Given the description of an element on the screen output the (x, y) to click on. 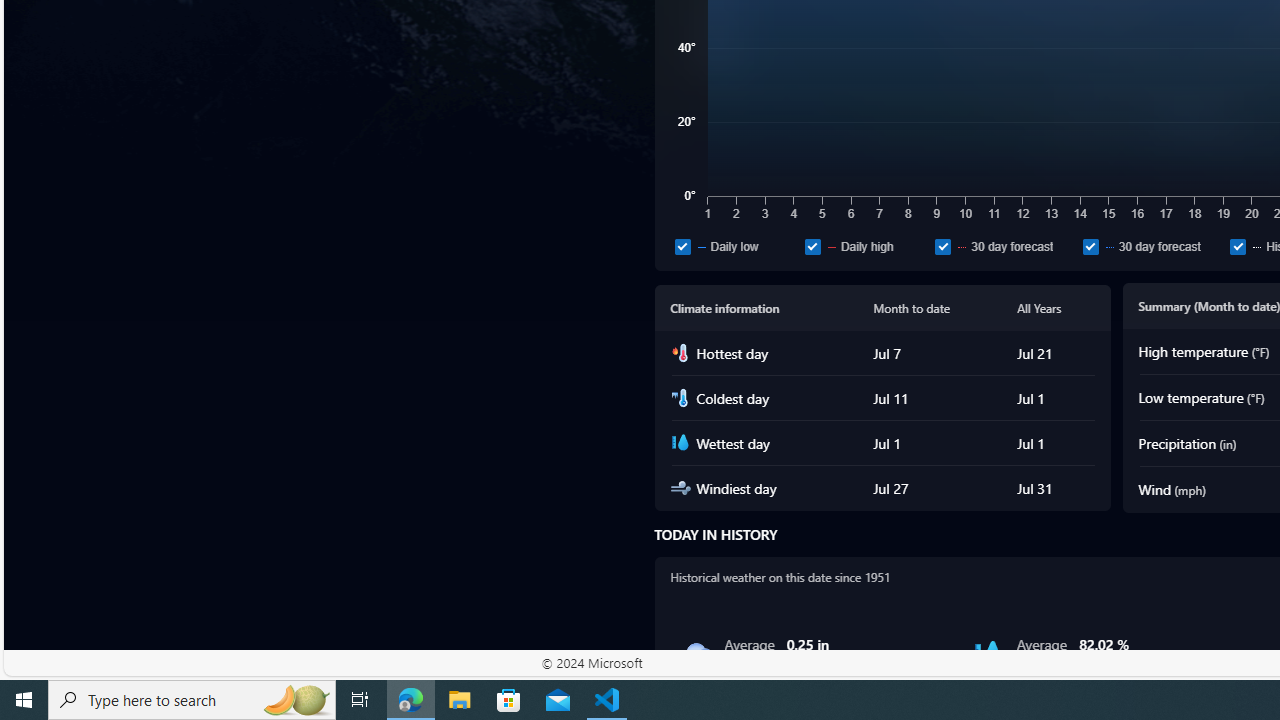
Daily high (865, 246)
Daily low (682, 246)
30 day forecast (1151, 246)
Rain (695, 654)
30 day forecast (1090, 246)
Daily high (811, 246)
Daily low (735, 246)
Historical daily temperature (1238, 246)
Humidity (987, 654)
